Given the description of an element on the screen output the (x, y) to click on. 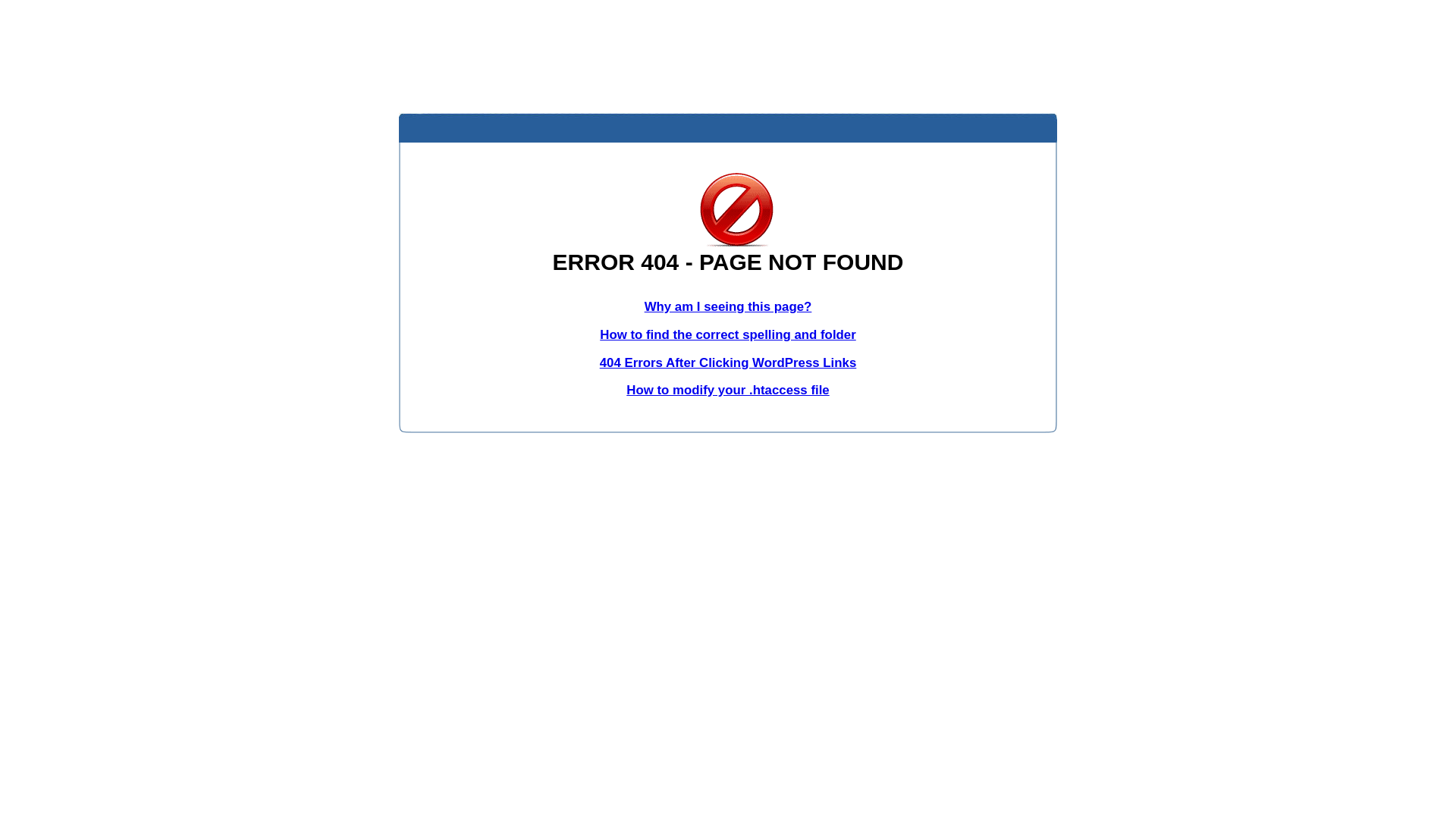
How to modify your .htaccess file Element type: text (727, 389)
404 Errors After Clicking WordPress Links Element type: text (727, 362)
Why am I seeing this page? Element type: text (728, 306)
How to find the correct spelling and folder Element type: text (727, 334)
